Given the description of an element on the screen output the (x, y) to click on. 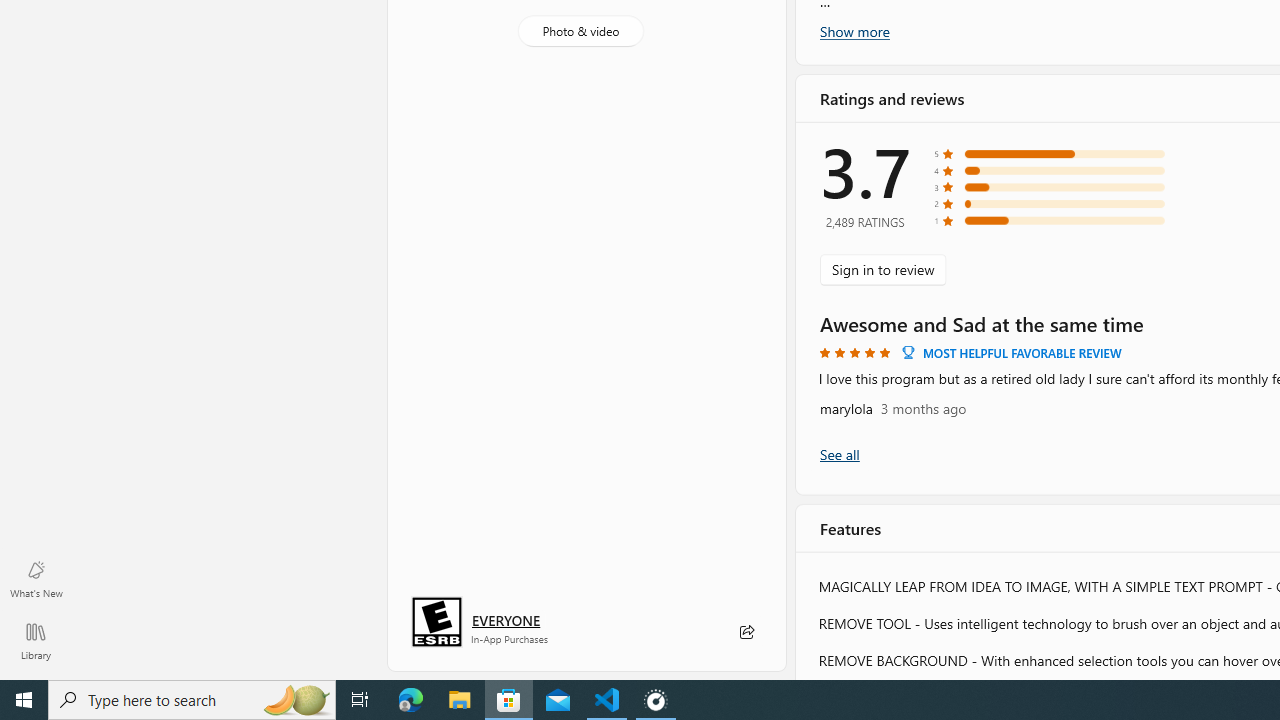
Age rating: EVERYONE. Click for more information. (506, 619)
Photo & video (579, 30)
Show more (854, 31)
Show all ratings and reviews (838, 454)
Sign in to review (882, 269)
Share (746, 632)
